Given the description of an element on the screen output the (x, y) to click on. 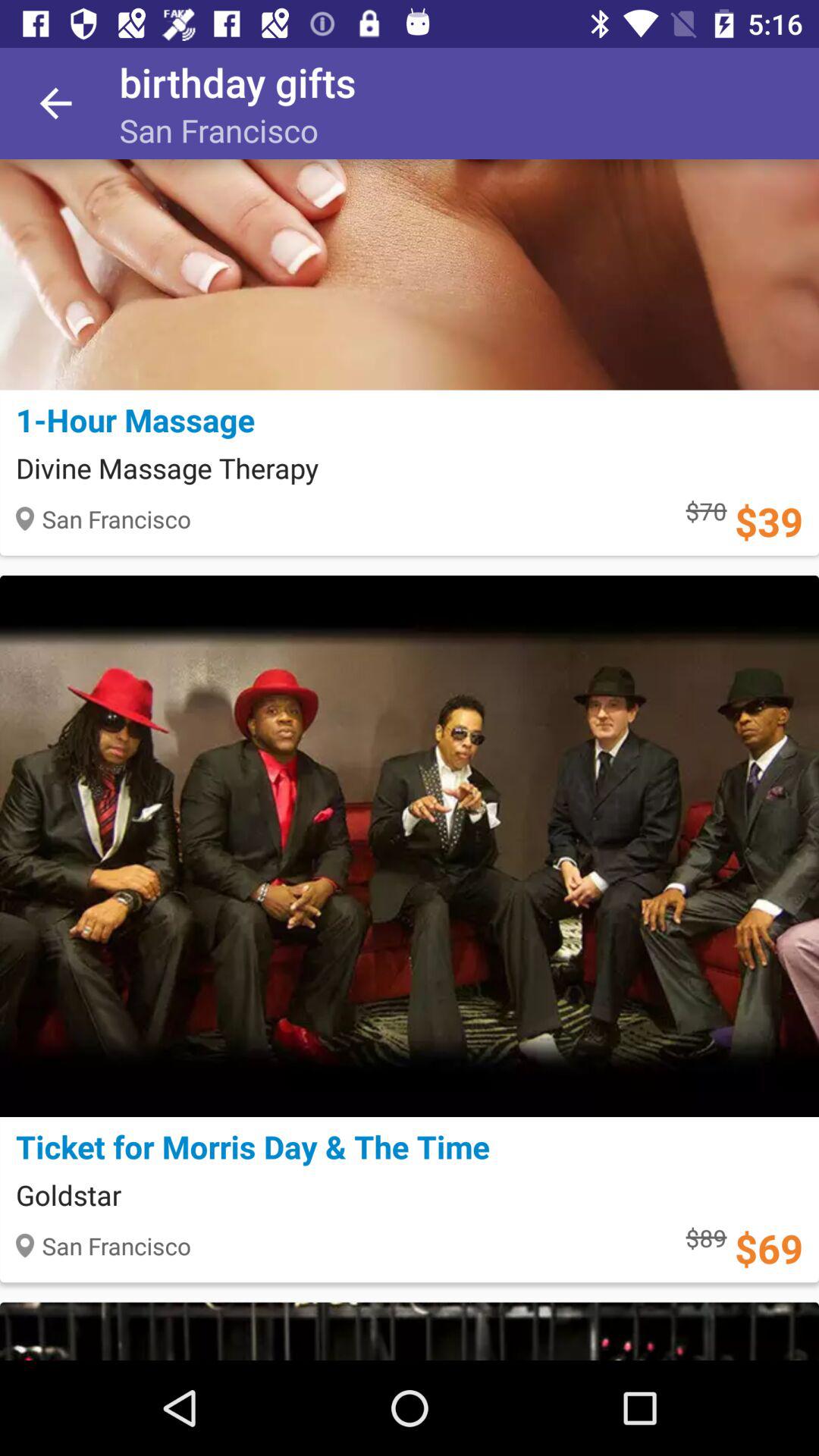
tap app to the left of birthday gifts app (55, 103)
